Given the description of an element on the screen output the (x, y) to click on. 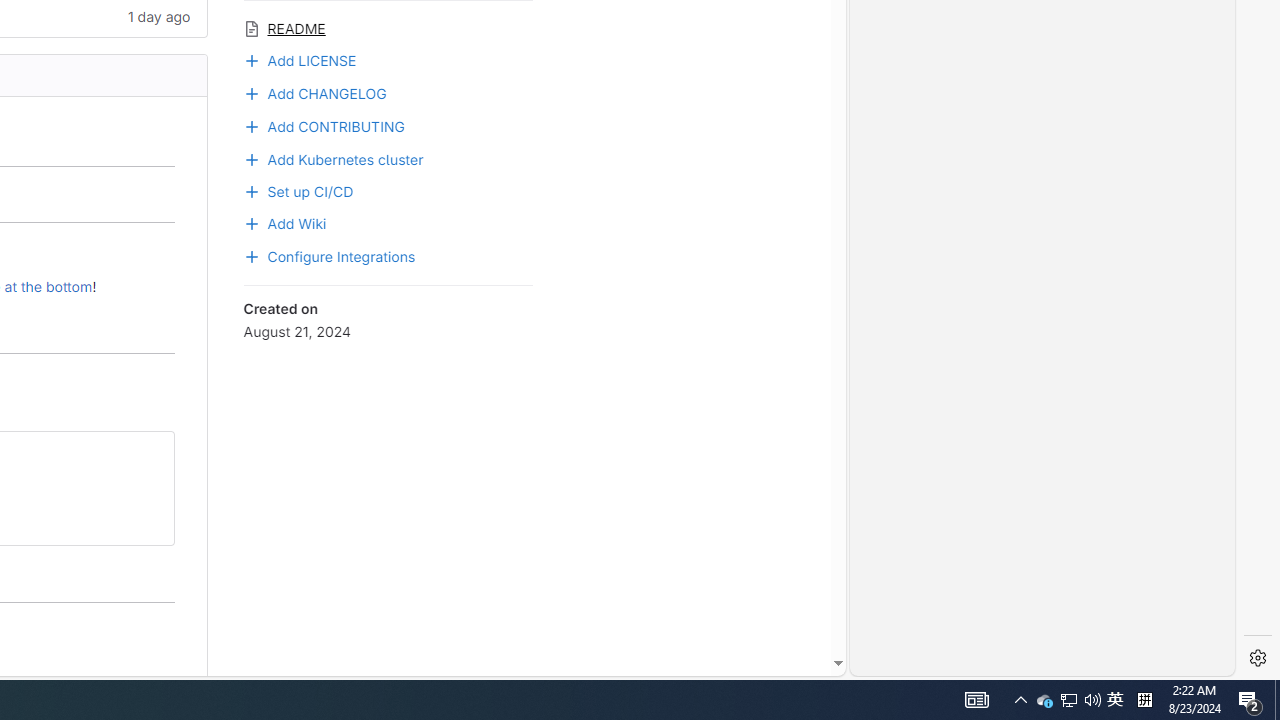
Configure Integrations (329, 255)
Add LICENSE (300, 58)
Configure Integrations (387, 255)
Add CONTRIBUTING (387, 124)
Add CONTRIBUTING (323, 124)
Add Wiki (284, 222)
